Given the description of an element on the screen output the (x, y) to click on. 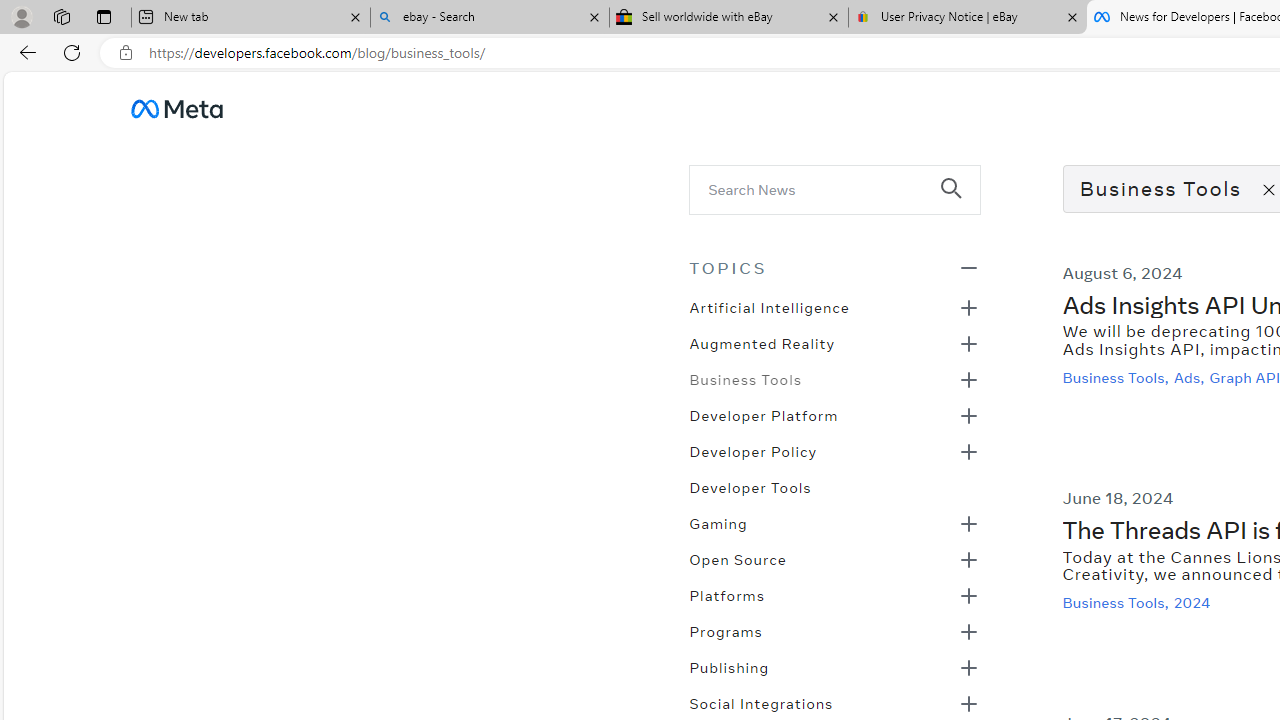
Class: _98ce (959, 201)
AutomationID: u_0_4z_2S (176, 107)
Developer Policy (752, 449)
Workspaces (61, 16)
Developer Platform (763, 413)
Business Tools, (1117, 602)
View site information (125, 53)
Back (24, 52)
Class: _98ex (834, 493)
Developer Tools (749, 485)
Business Tools (745, 377)
Platforms (726, 593)
Sell worldwide with eBay (729, 17)
ebay - Search (490, 17)
Class: _9890 _98ey (834, 267)
